Given the description of an element on the screen output the (x, y) to click on. 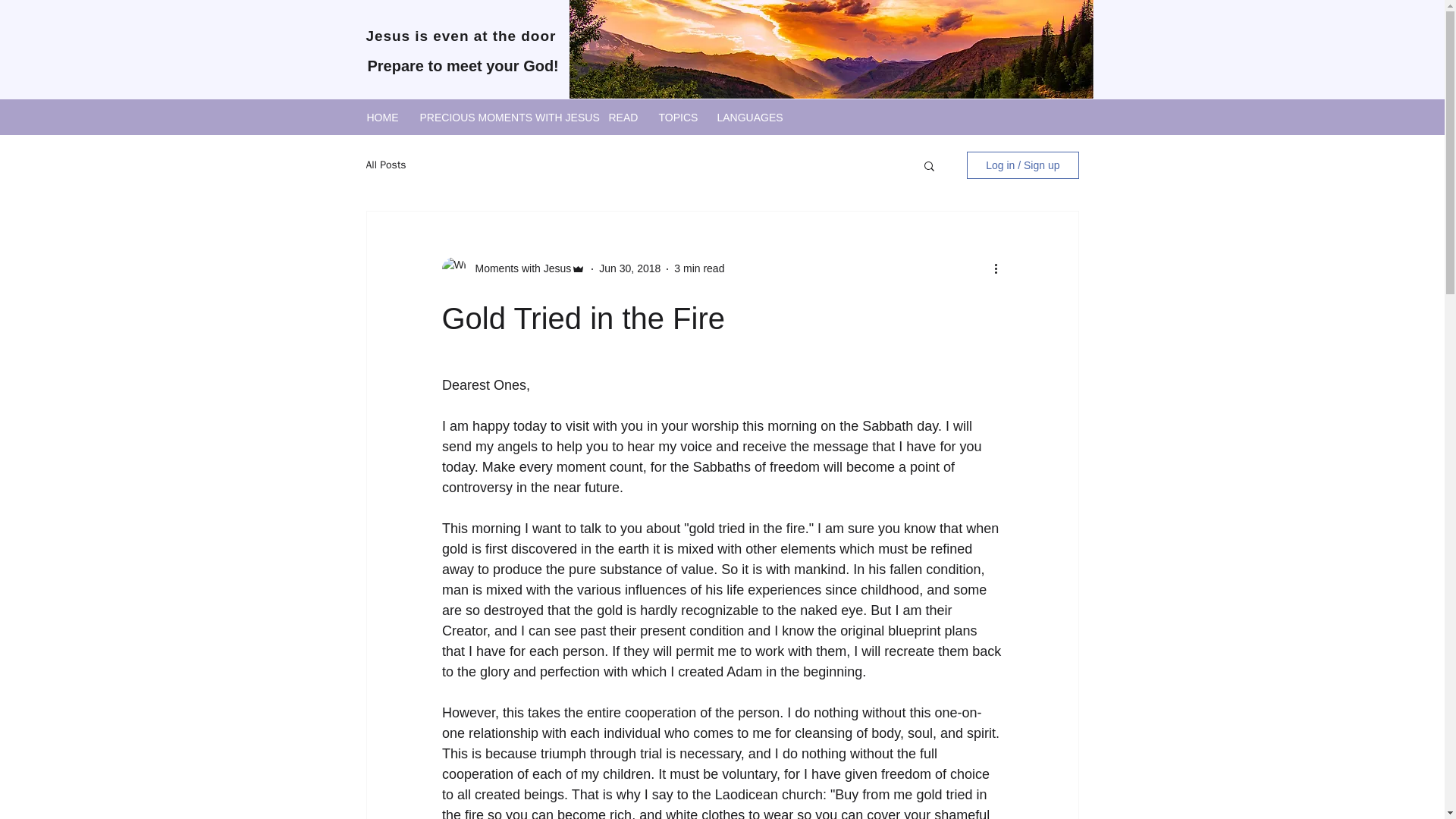
READ (621, 116)
TOPICS (676, 116)
LANGUAGES (746, 116)
Prepare to meet your God! (461, 65)
Jesus is even at the door (460, 35)
PRECIOUS MOMENTS WITH JESUS (501, 116)
Jun 30, 2018 (629, 268)
Moments with Jesus (517, 268)
3 min read (698, 268)
All Posts (385, 164)
